Given the description of an element on the screen output the (x, y) to click on. 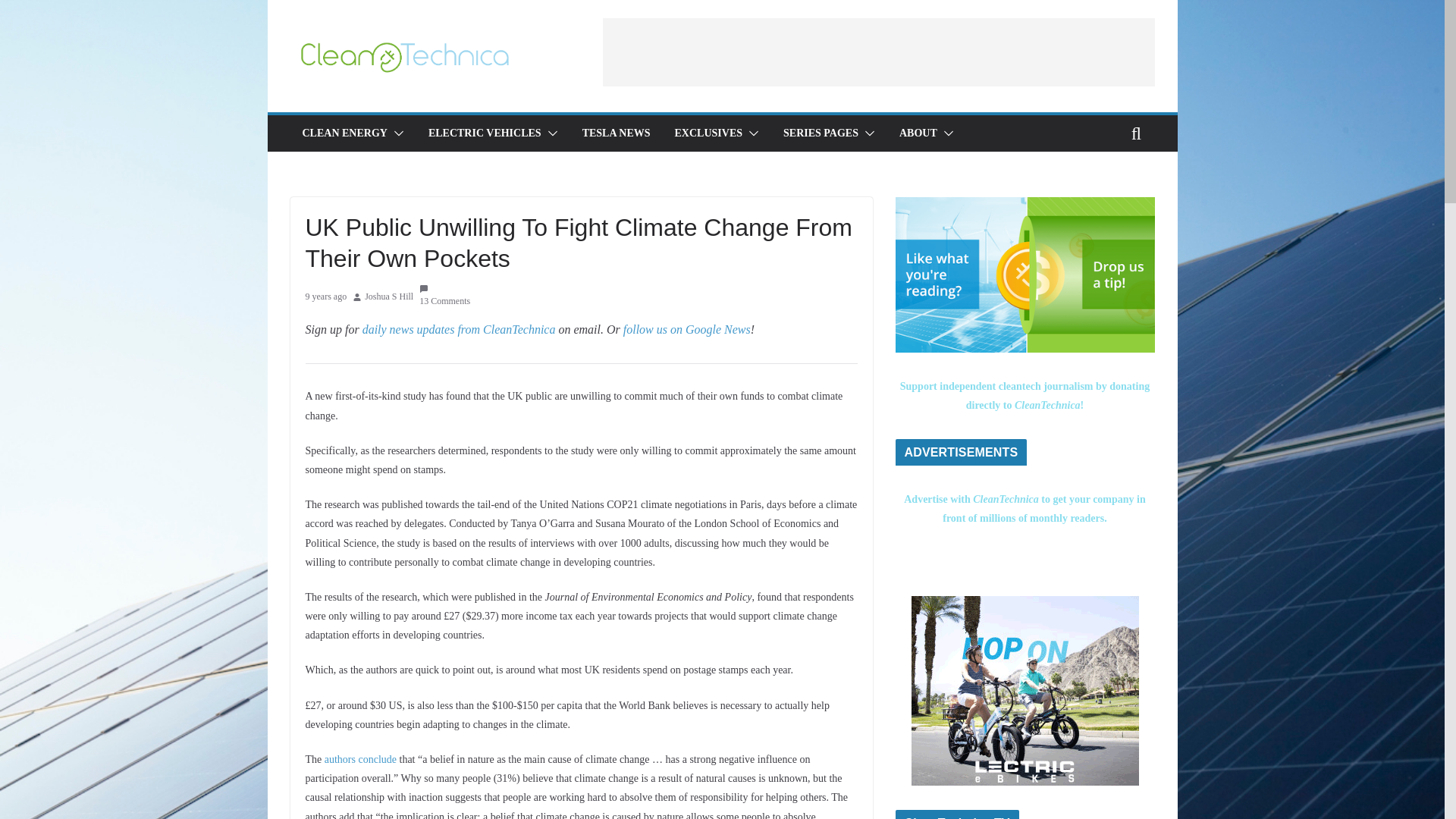
SERIES PAGES (821, 133)
TESLA NEWS (616, 133)
Joshua S Hill (389, 297)
ELECTRIC VEHICLES (484, 133)
EXCLUSIVES (708, 133)
CLEAN ENERGY (344, 133)
